Given the description of an element on the screen output the (x, y) to click on. 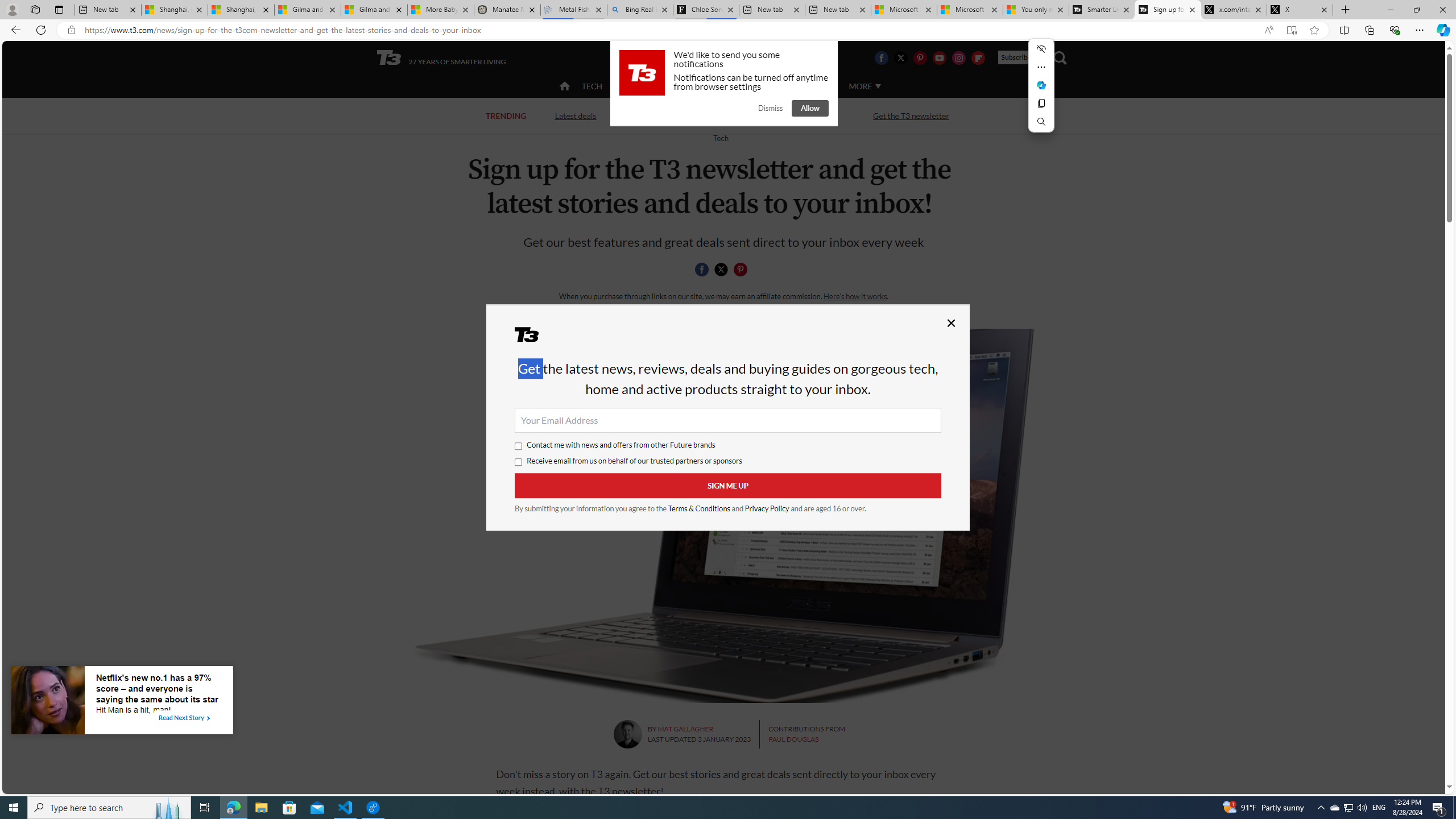
Contact me with news and offers from other Future brands (518, 446)
ACTIVE (638, 86)
Visit us on Facebook (880, 57)
Dismiss (770, 107)
Mini menu on text selection (1041, 84)
Streaming TV and movies (788, 115)
Gilma and Hector both pose tropical trouble for Hawaii (374, 9)
Class: social__item (742, 271)
Enter Immersive Reader (F9) (1291, 29)
Get the T3 newsletter (911, 115)
Your Email Address (727, 420)
